Given the description of an element on the screen output the (x, y) to click on. 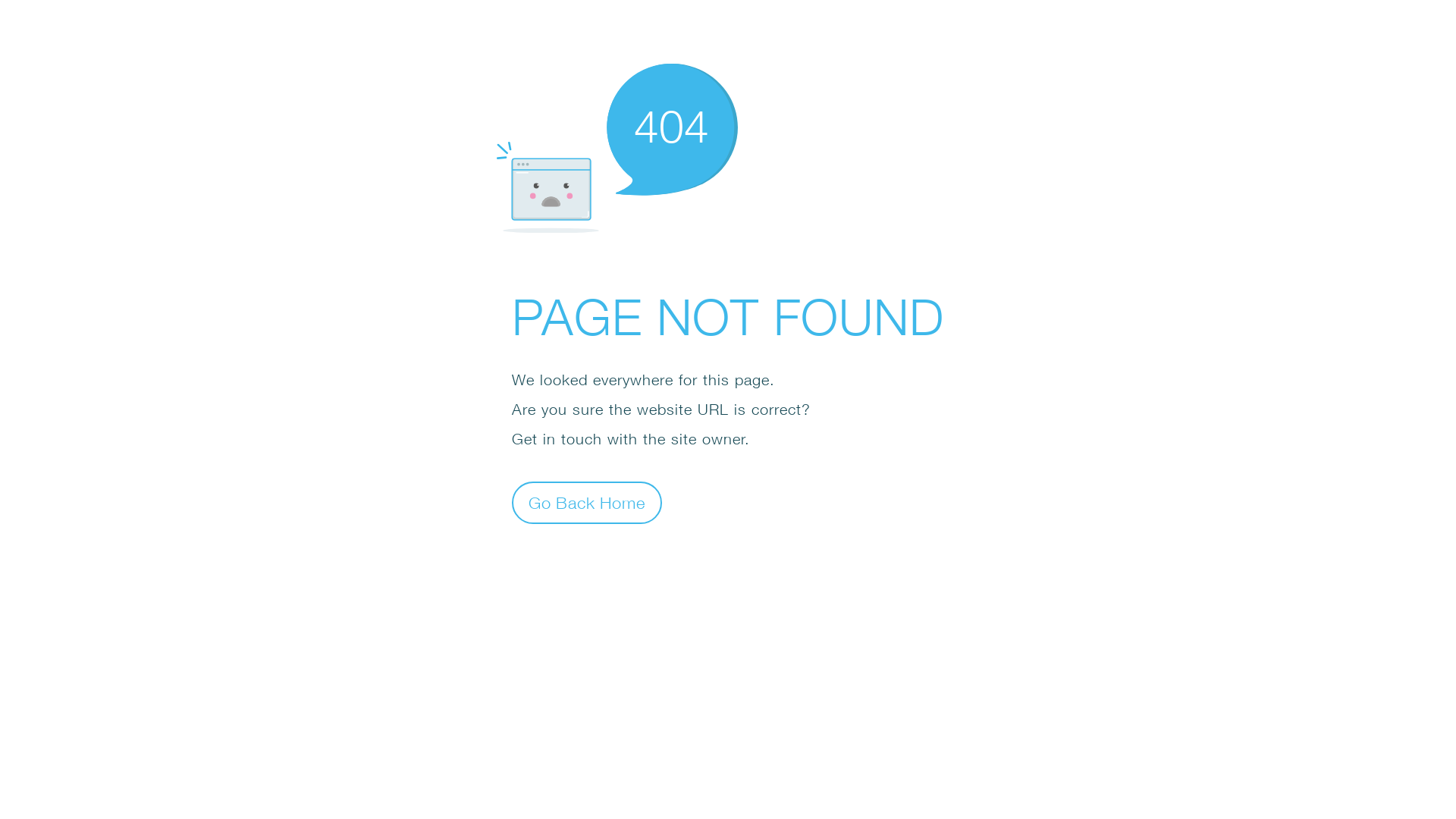
Go Back Home Element type: text (586, 502)
